Given the description of an element on the screen output the (x, y) to click on. 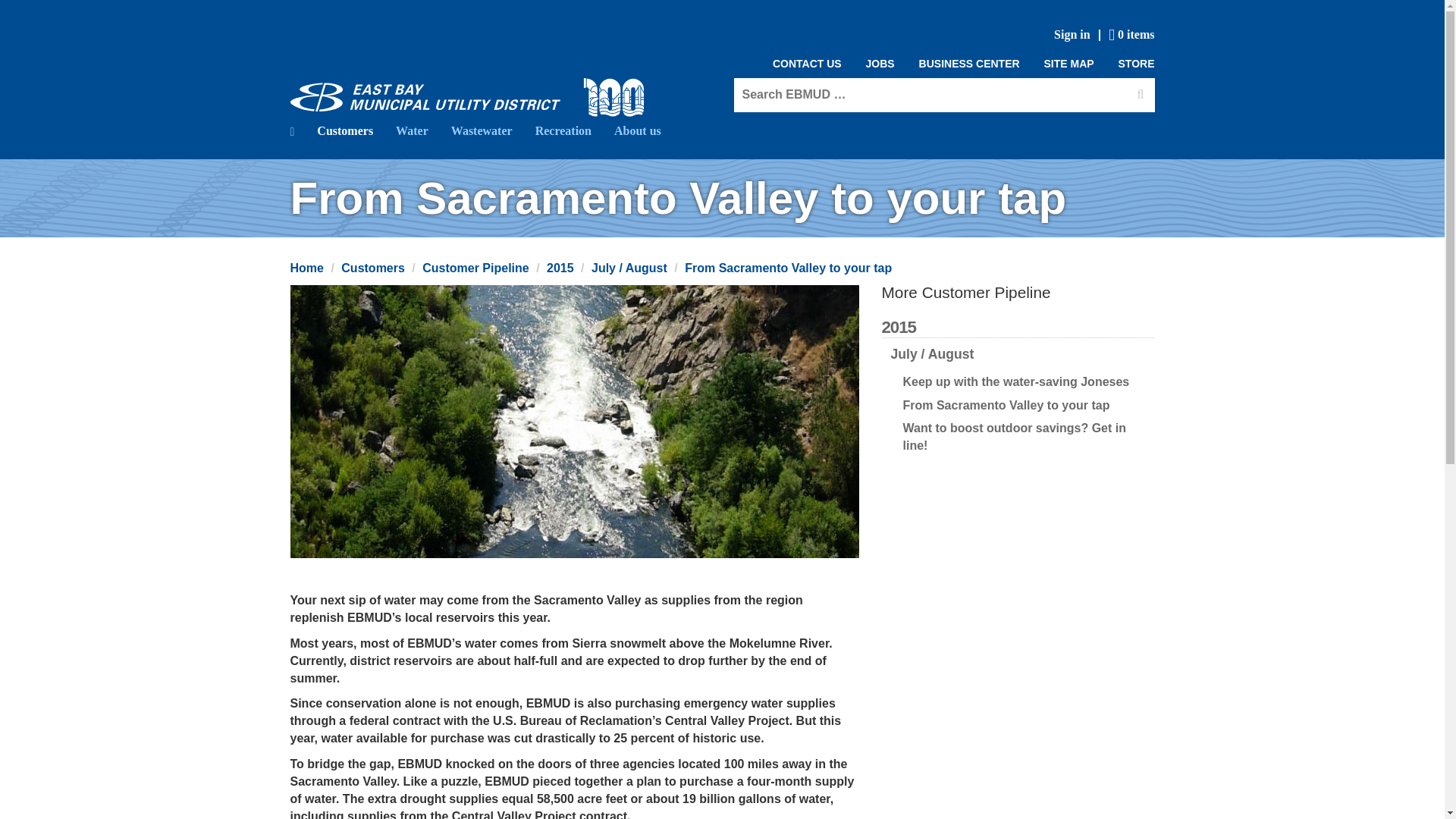
STORE (1131, 63)
2015 (560, 267)
Customer Pipeline (475, 267)
0 items (1129, 34)
BUSINESS CENTER (969, 63)
From Sacramento Valley to your tap (787, 267)
Home (306, 267)
Recreation (563, 130)
Wastewater (481, 130)
Water (411, 130)
